Given the description of an element on the screen output the (x, y) to click on. 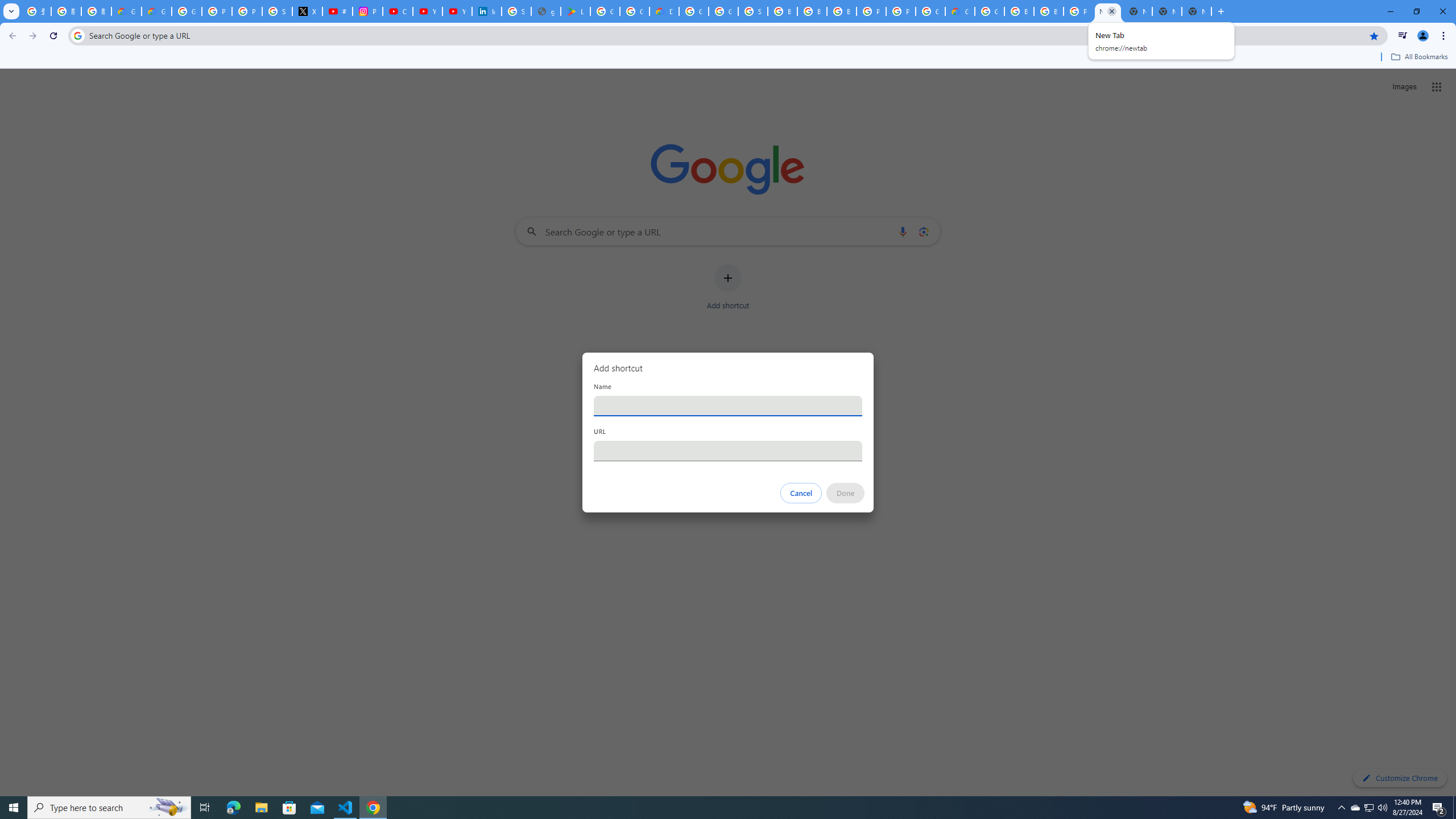
Browse Chrome as a guest - Computer - Google Chrome Help (811, 11)
Google Cloud Platform (693, 11)
URL (727, 450)
Sign in - Google Accounts (515, 11)
Sign in - Google Accounts (753, 11)
